Given the description of an element on the screen output the (x, y) to click on. 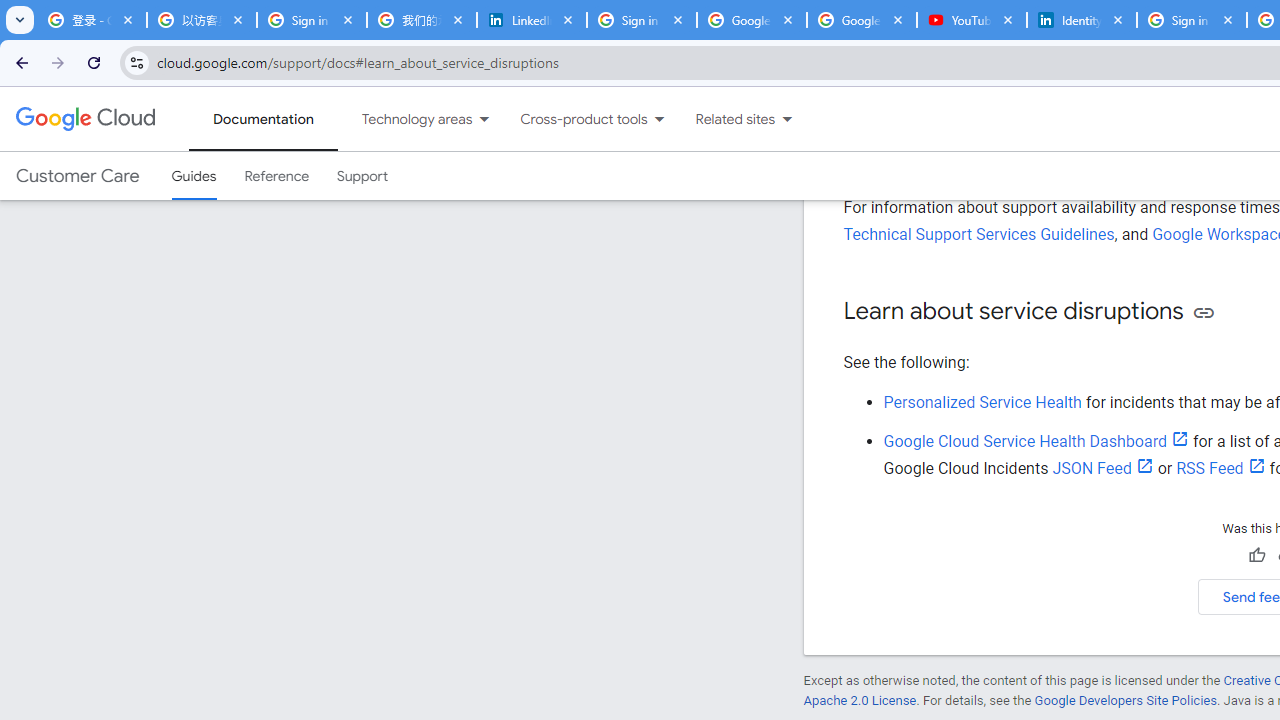
Sign in - Google Accounts (642, 20)
RSS Feed (1220, 468)
Dropdown menu for Related sites (787, 119)
Support (362, 175)
Helpful (1256, 555)
Related sites (722, 119)
JSON Feed (1103, 468)
Sign in - Google Accounts (312, 20)
Google Cloud (84, 118)
